Given the description of an element on the screen output the (x, y) to click on. 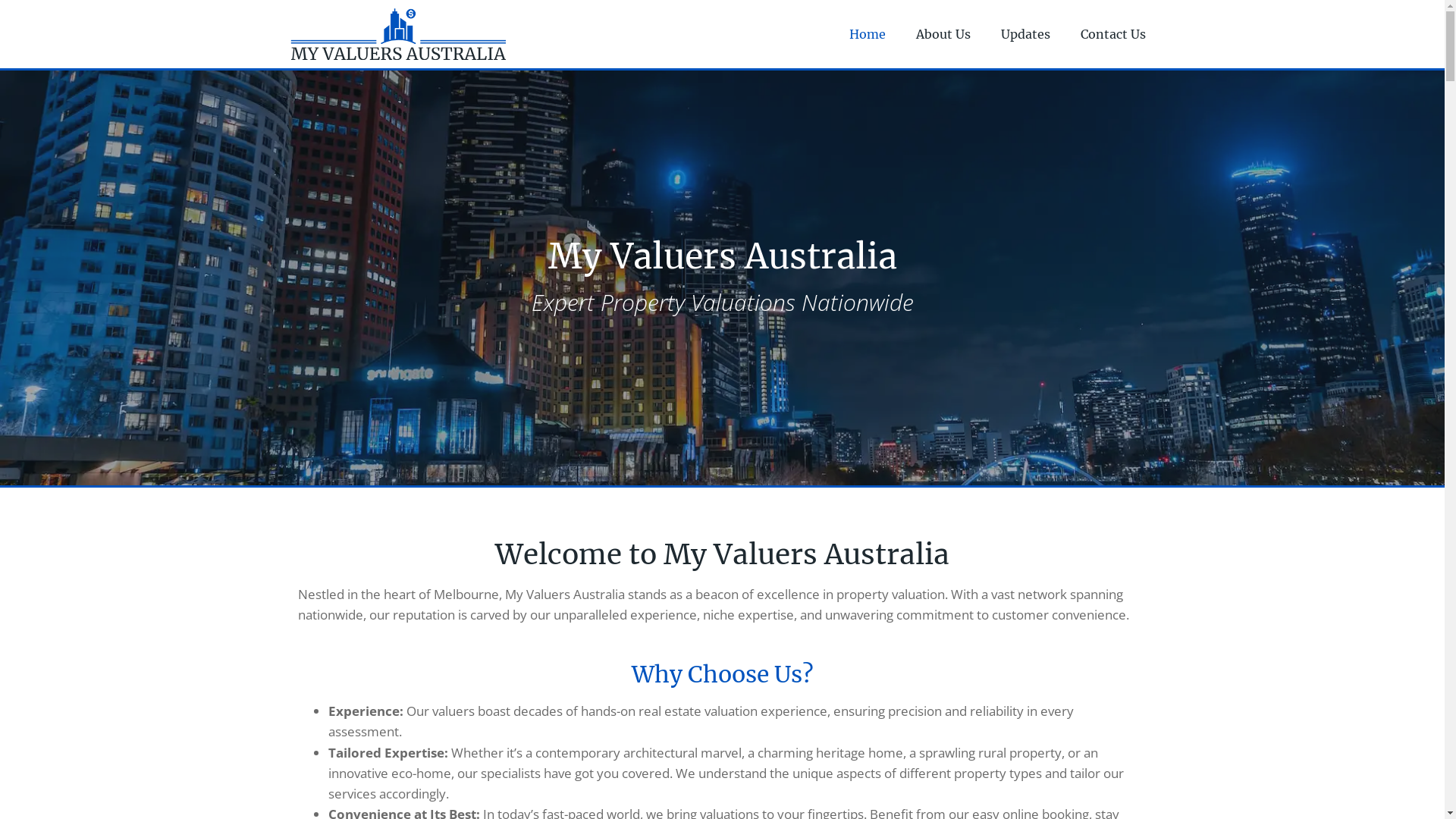
About Us Element type: text (943, 33)
Home Element type: text (867, 33)
Contact Us Element type: text (1113, 33)
Updates Element type: text (1025, 33)
